Given the description of an element on the screen output the (x, y) to click on. 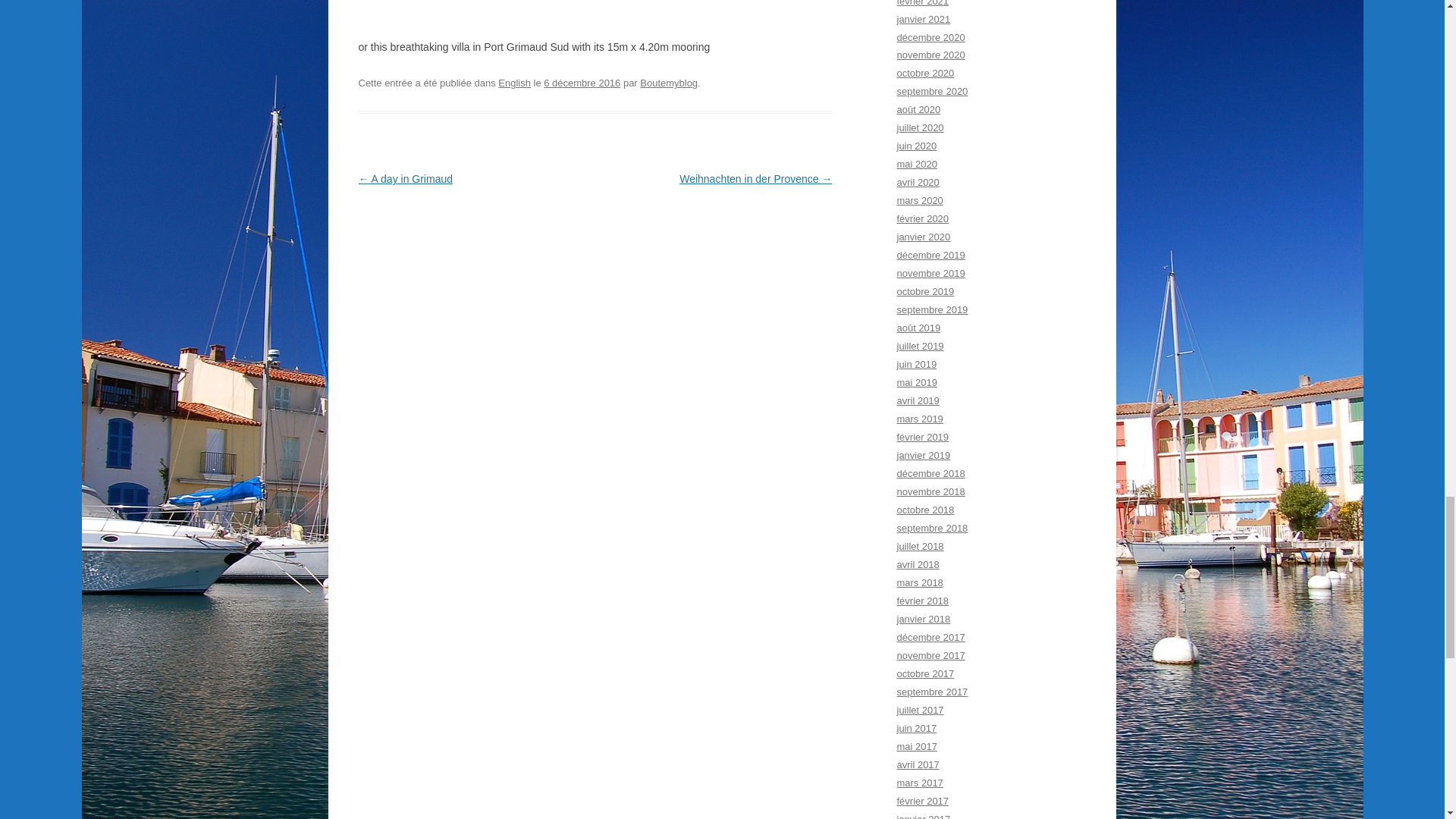
English (514, 82)
Boutemyblog (668, 82)
10 h 06 min (581, 82)
Afficher tous les articles par Boutemyblog (668, 82)
